Given the description of an element on the screen output the (x, y) to click on. 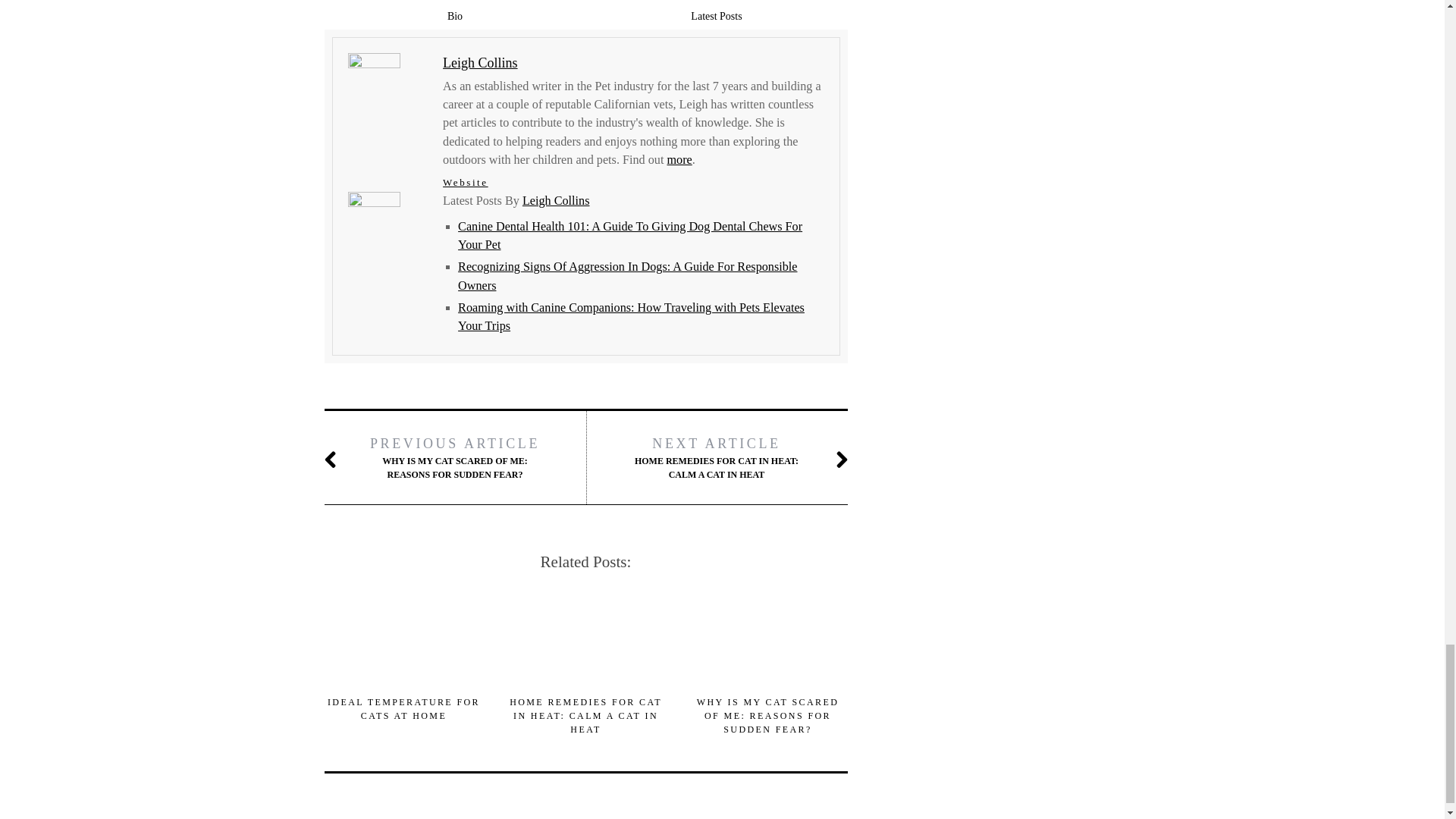
Leigh Collins (555, 201)
Bio (455, 16)
more (678, 160)
Latest Posts (716, 16)
Leigh Collins (480, 62)
Website (464, 182)
